Given the description of an element on the screen output the (x, y) to click on. 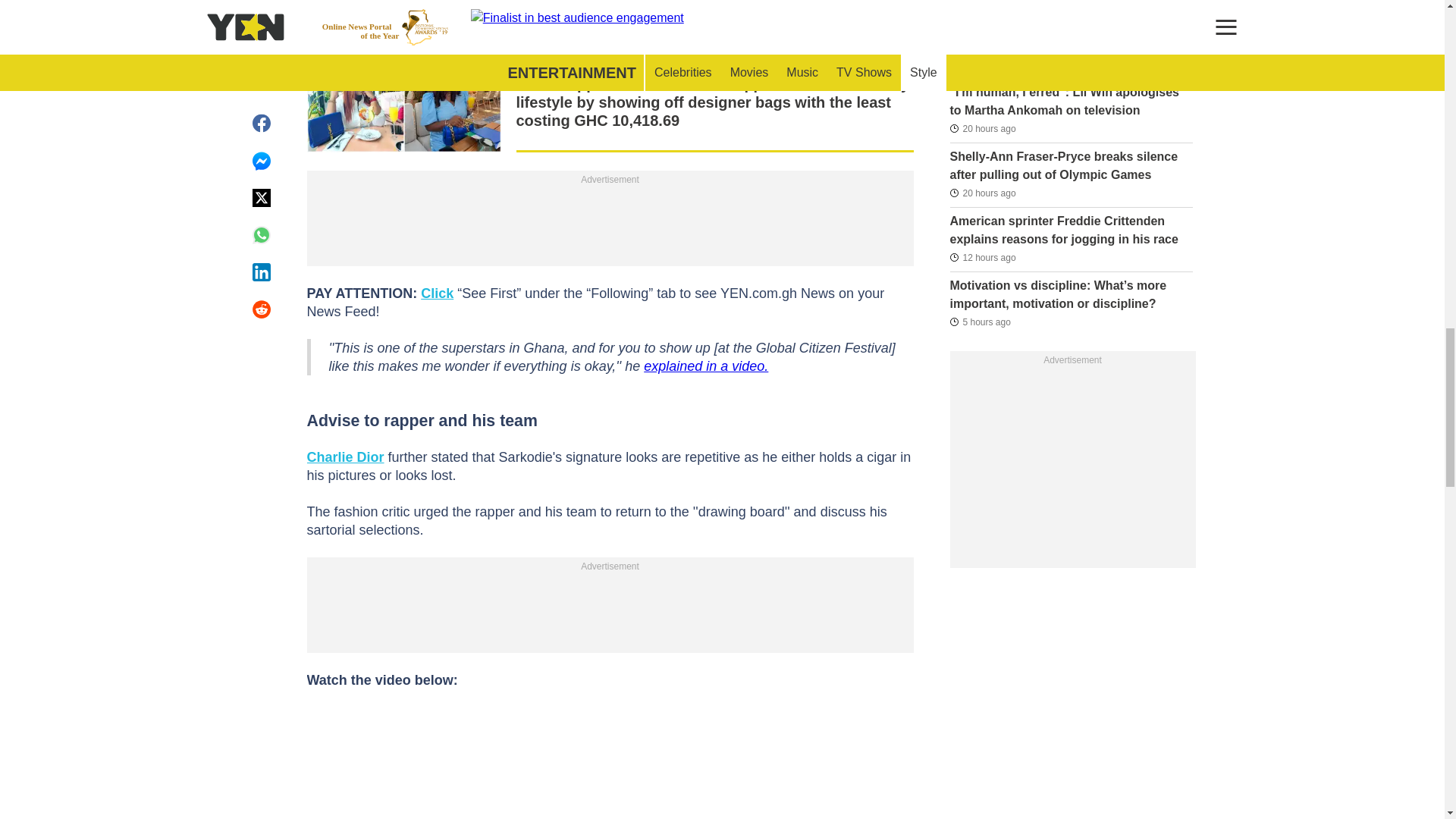
2024-08-04T18:57:35Z (981, 257)
2024-08-04T11:15:36Z (981, 128)
2024-08-05T02:04:16Z (979, 321)
2024-08-04T11:57:39Z (981, 63)
2024-08-04T11:01:50Z (981, 192)
